Given the description of an element on the screen output the (x, y) to click on. 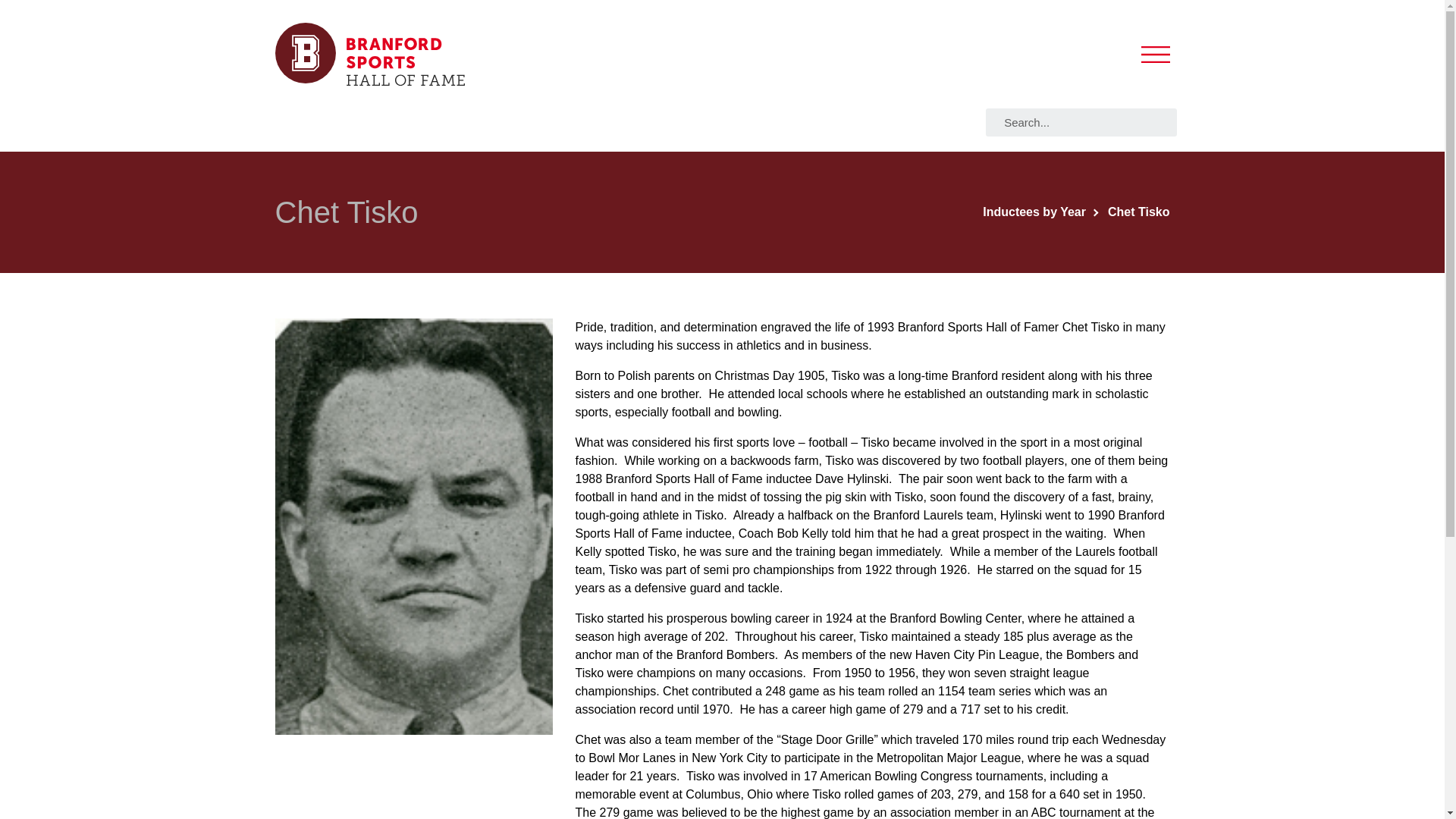
Inductees by Year (1039, 211)
Search (1085, 122)
